Given the description of an element on the screen output the (x, y) to click on. 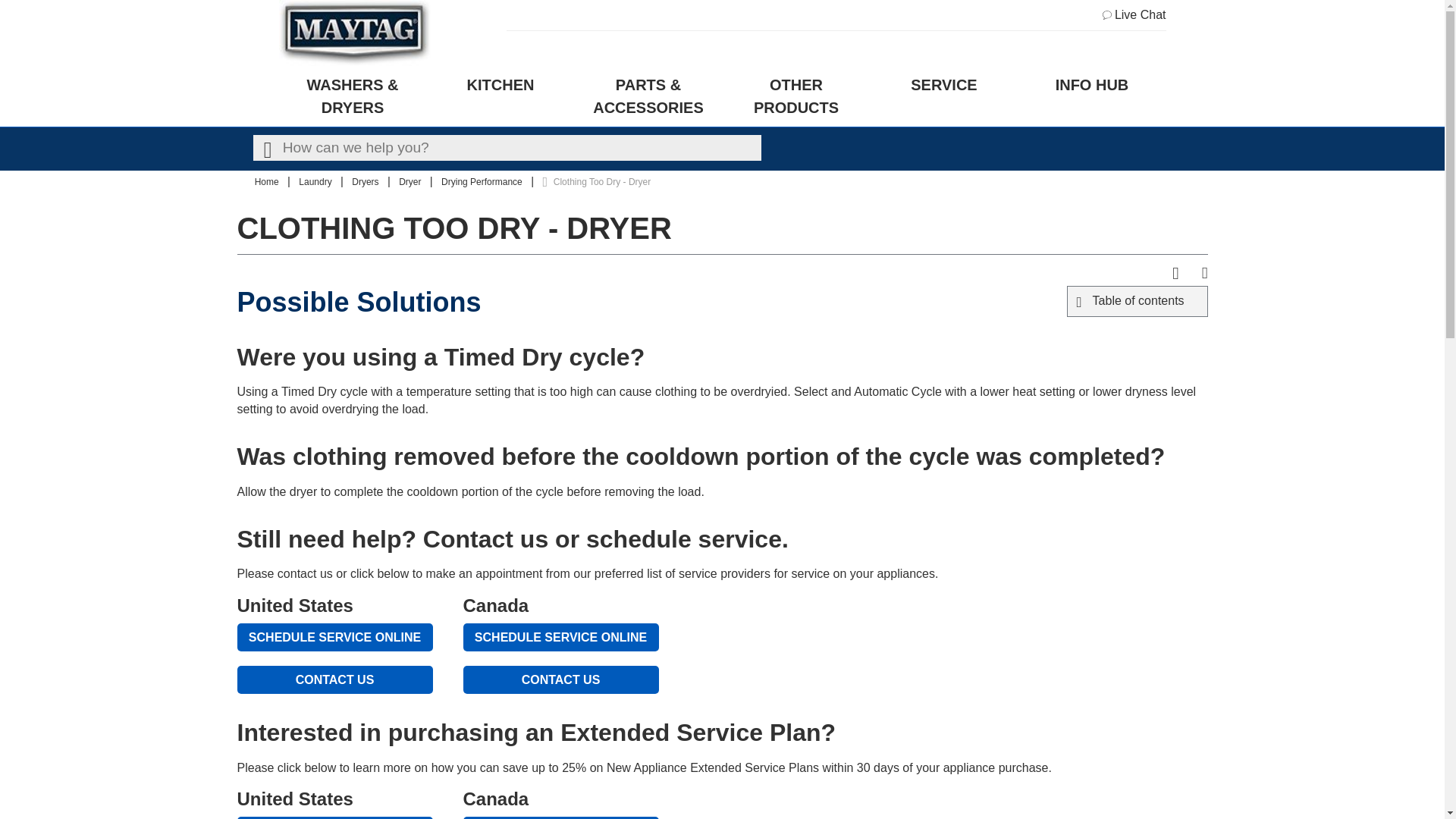
SERVICE (943, 96)
Live Chat (1134, 14)
Maytag (354, 33)
KITCHEN (499, 96)
Chat (1134, 14)
OTHER PRODUCTS (795, 96)
INFO HUB (1091, 96)
